Given the description of an element on the screen output the (x, y) to click on. 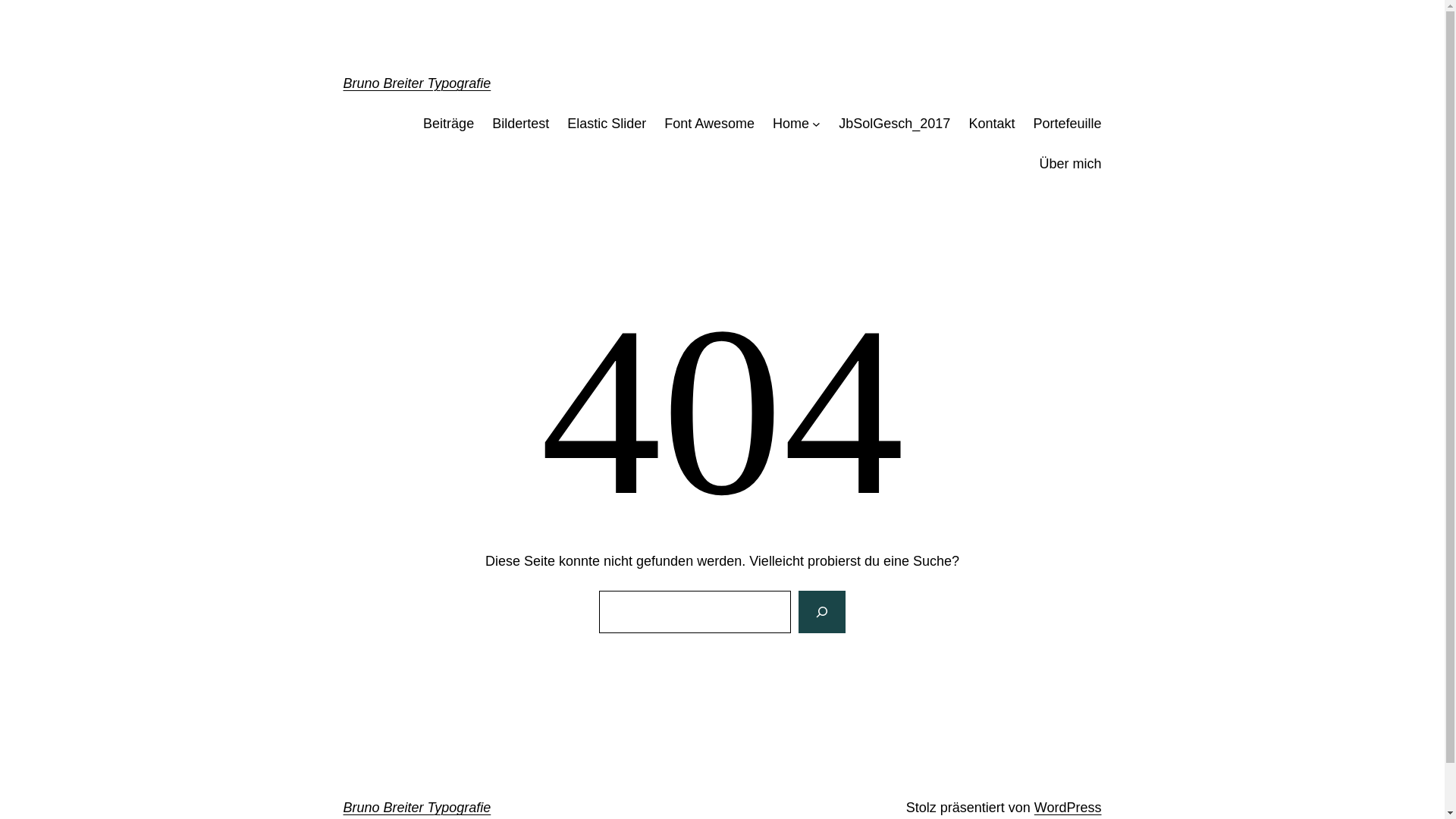
Home Element type: text (790, 123)
Portefeuille Element type: text (1066, 123)
Bildertest Element type: text (520, 123)
Kontakt Element type: text (991, 123)
Elastic Slider Element type: text (606, 123)
WordPress Element type: text (1067, 807)
Bruno Breiter Typografie Element type: text (416, 807)
Bruno Breiter Typografie Element type: text (416, 83)
Font Awesome Element type: text (709, 123)
JbSolGesch_2017 Element type: text (894, 123)
